Given the description of an element on the screen output the (x, y) to click on. 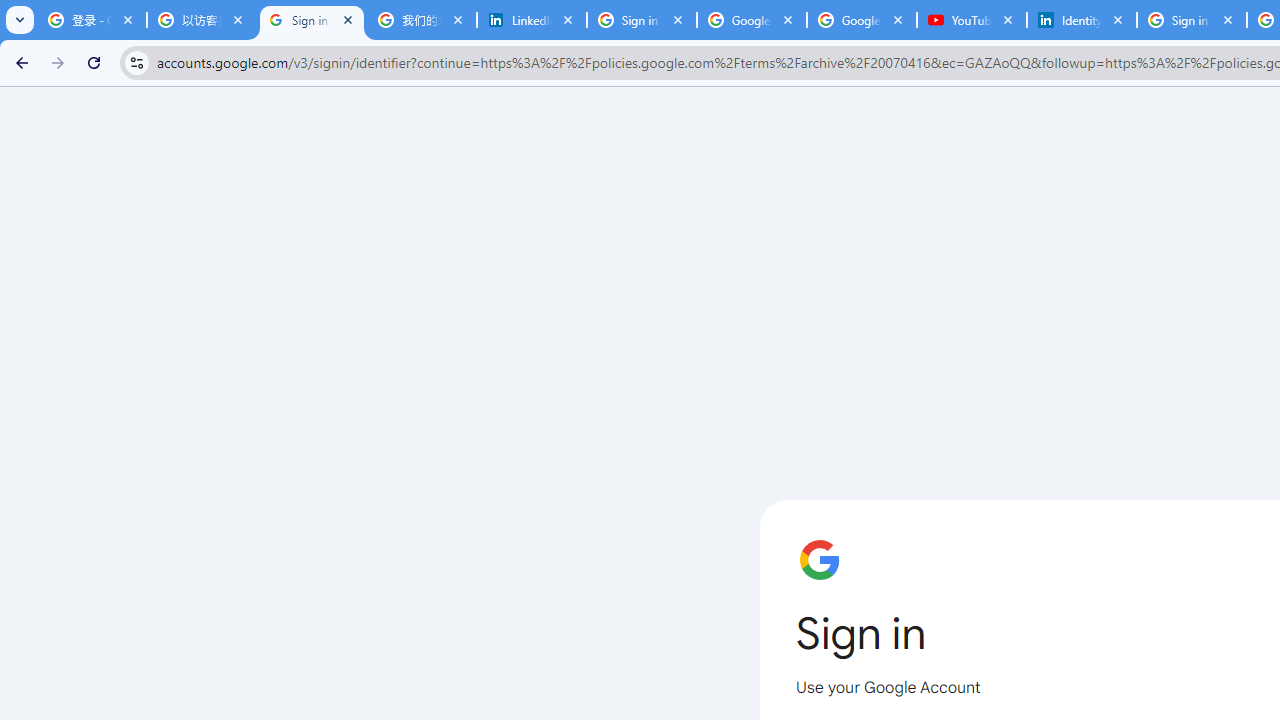
Sign in - Google Accounts (312, 20)
Sign in - Google Accounts (1191, 20)
